Given the description of an element on the screen output the (x, y) to click on. 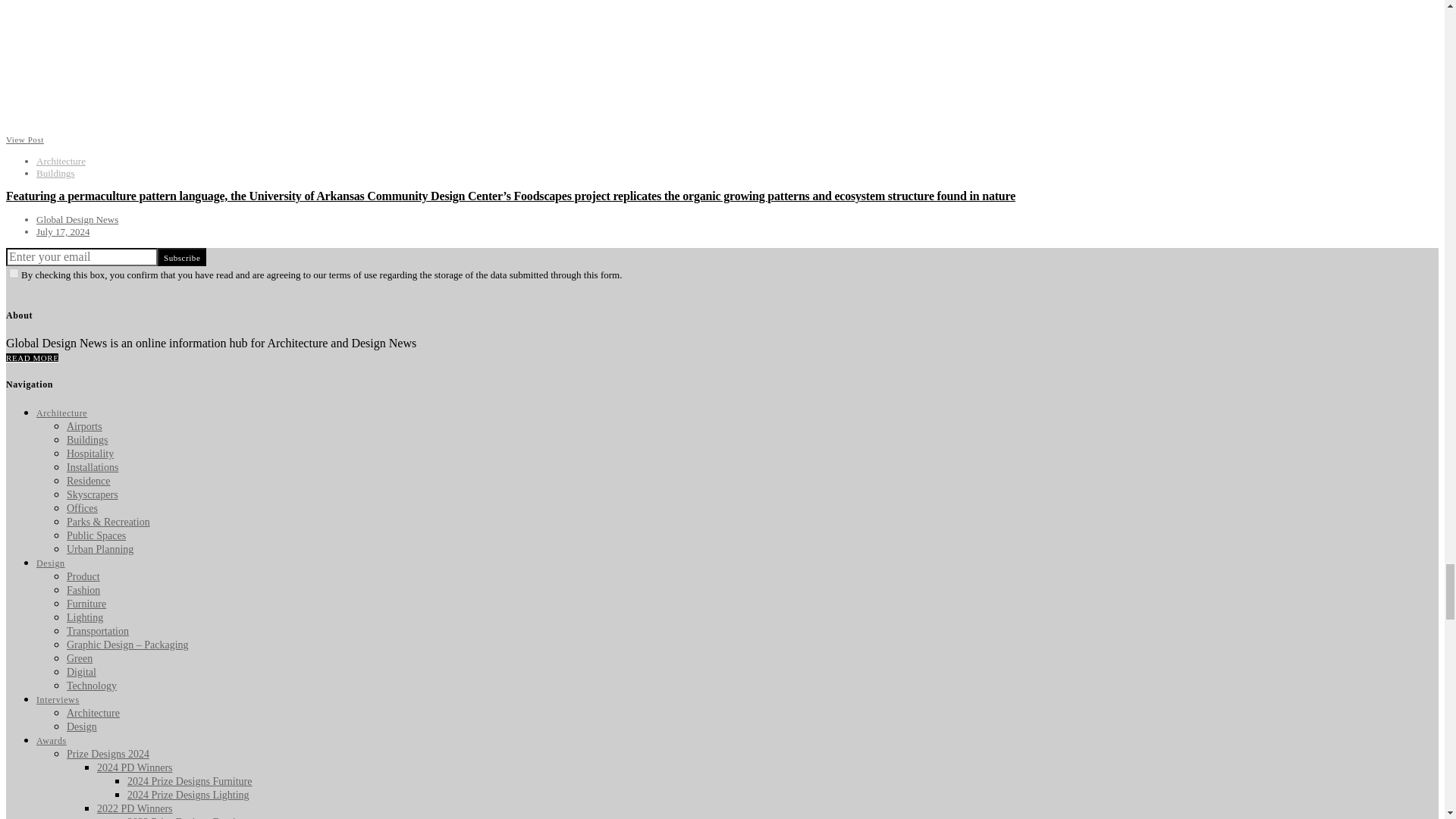
View all posts by Global Design News (76, 219)
on (13, 273)
